Given the description of an element on the screen output the (x, y) to click on. 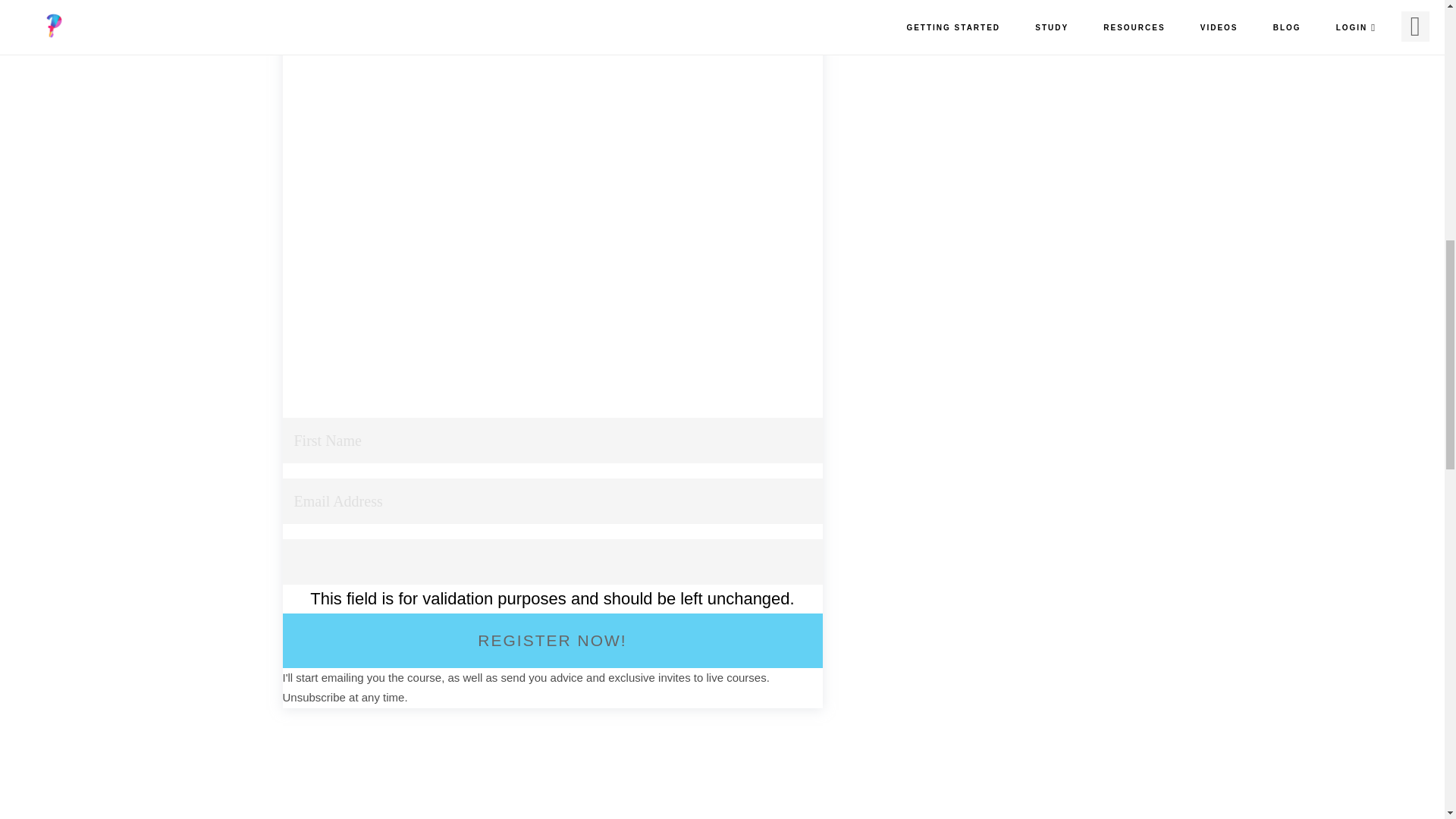
REGISTER NOW! (552, 640)
